Given the description of an element on the screen output the (x, y) to click on. 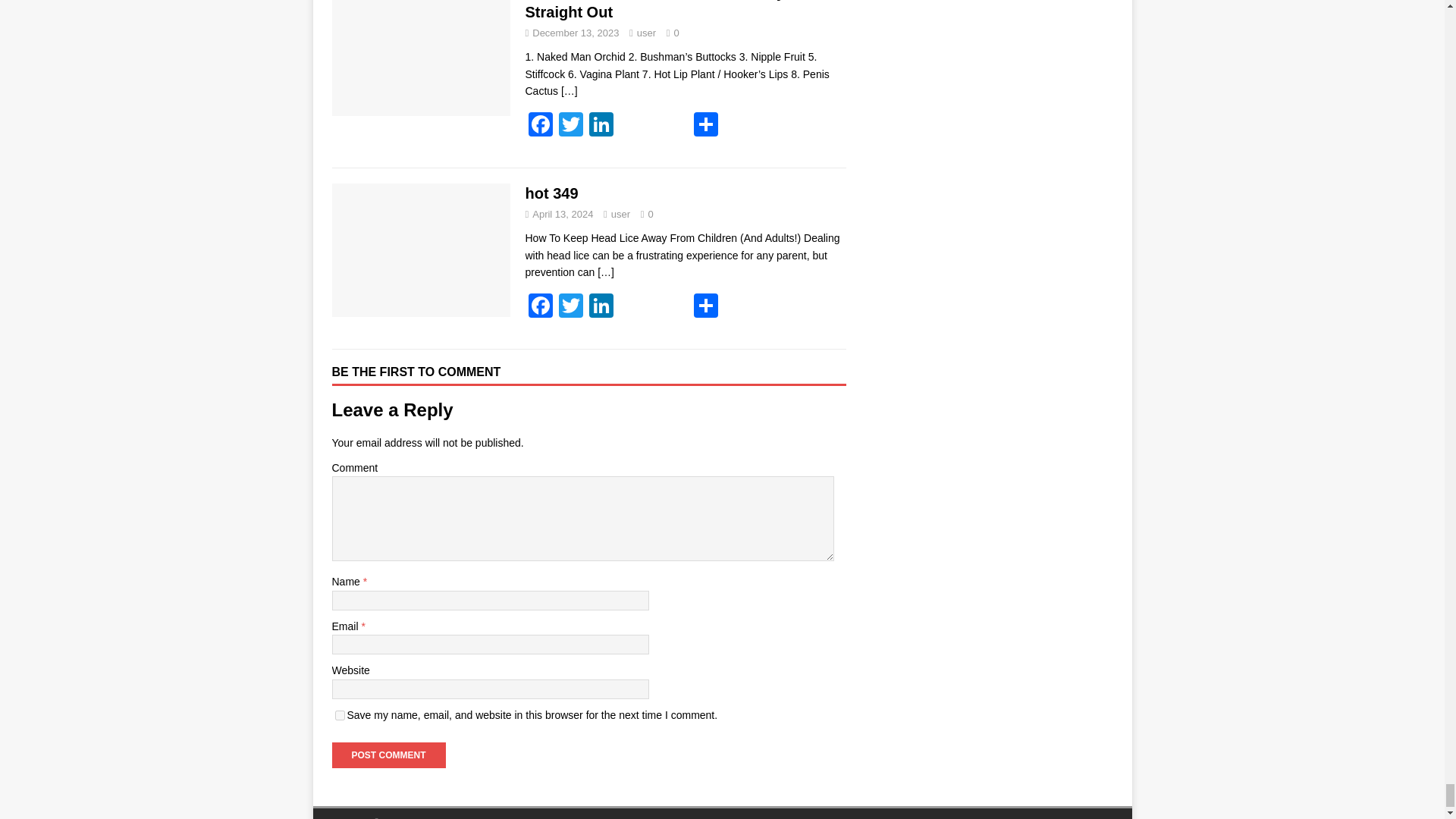
17 Adult Plants That Look Like They Come Straight Out (569, 91)
Facebook (539, 126)
LinkedIn (600, 126)
Twitter (569, 126)
Post Comment (388, 755)
yes (339, 715)
Facebook (539, 307)
hot 349 (605, 272)
